Given the description of an element on the screen output the (x, y) to click on. 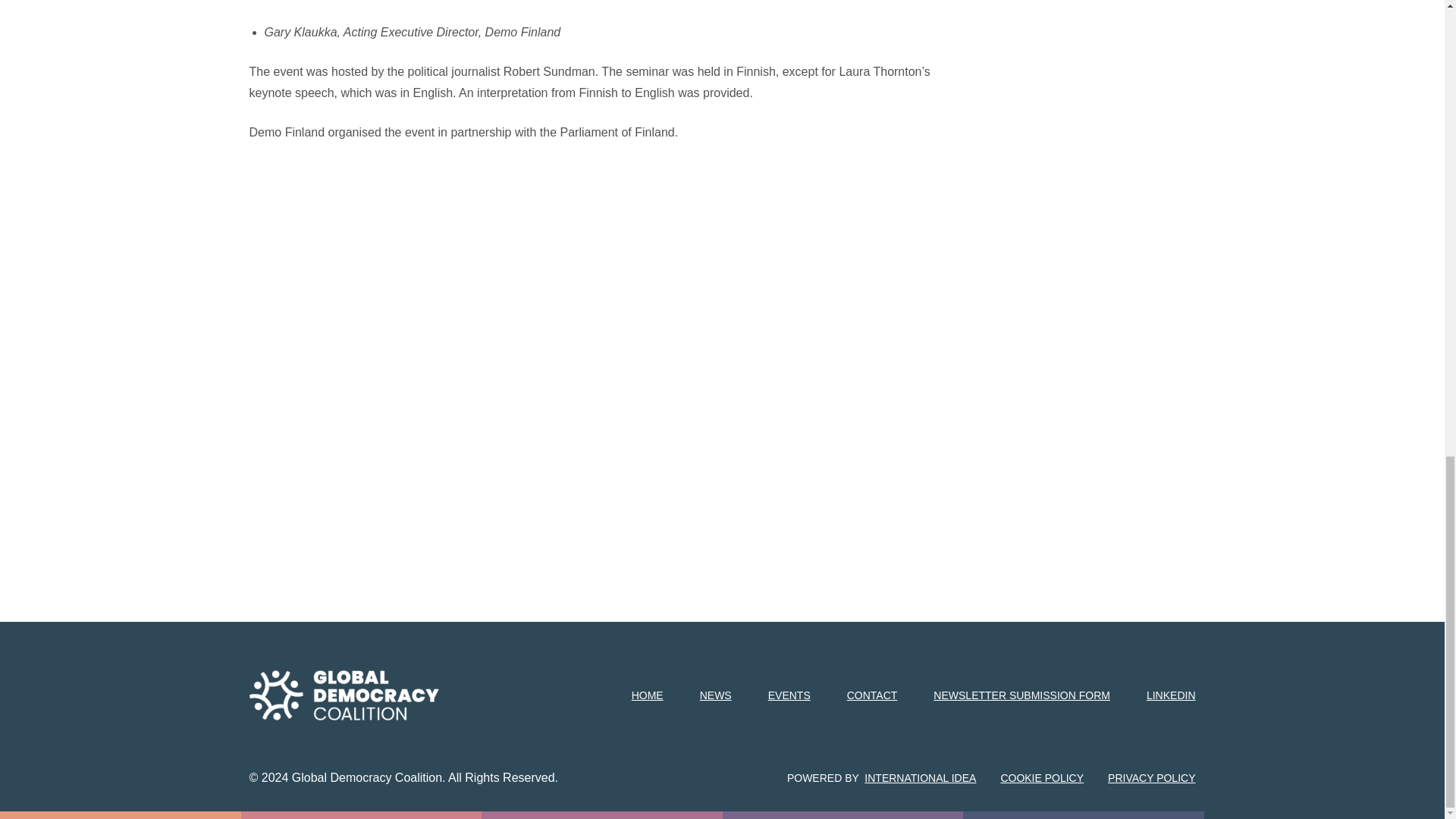
NEWS (716, 695)
EVENTS (789, 695)
HOME (647, 695)
CONTACT (872, 695)
